Given the description of an element on the screen output the (x, y) to click on. 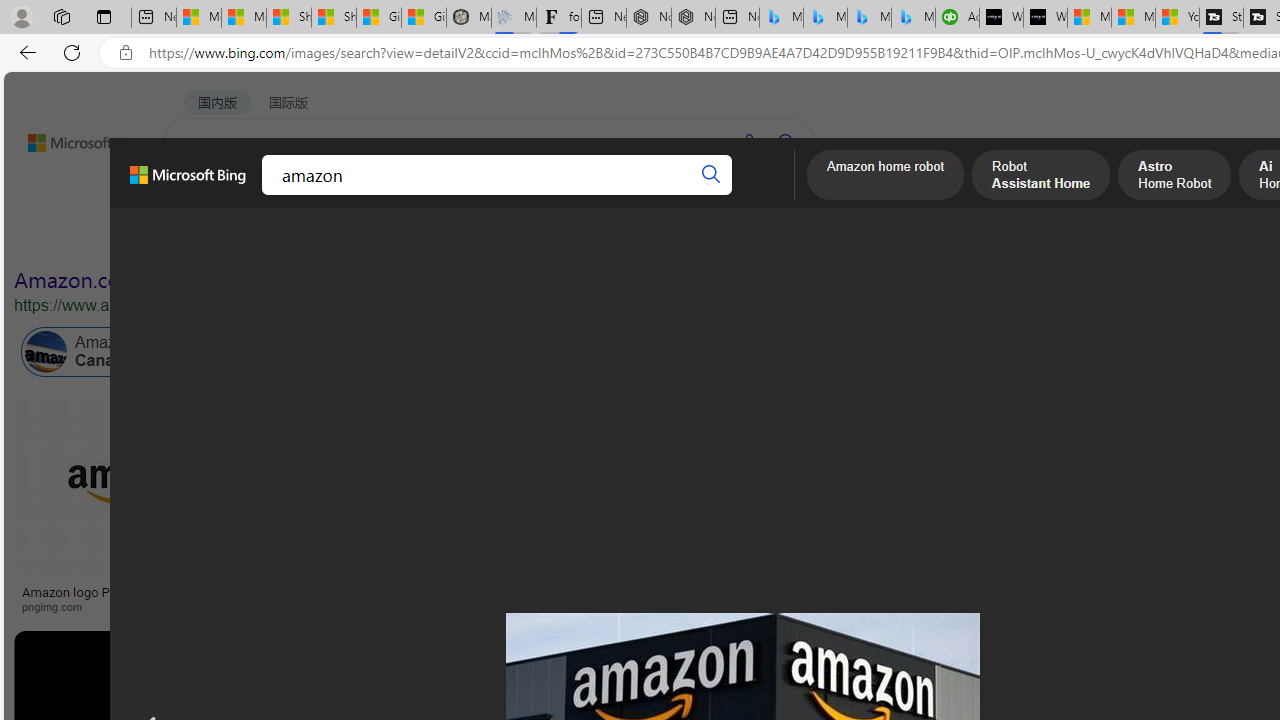
People (520, 237)
Type (373, 237)
WEB (201, 195)
Image size (222, 237)
Amazon Cloud (606, 351)
VIDEOS (458, 195)
Amazon Animals (749, 351)
DICT (630, 195)
Back to Bing search (73, 138)
Astro Home Robot (1174, 177)
